Given the description of an element on the screen output the (x, y) to click on. 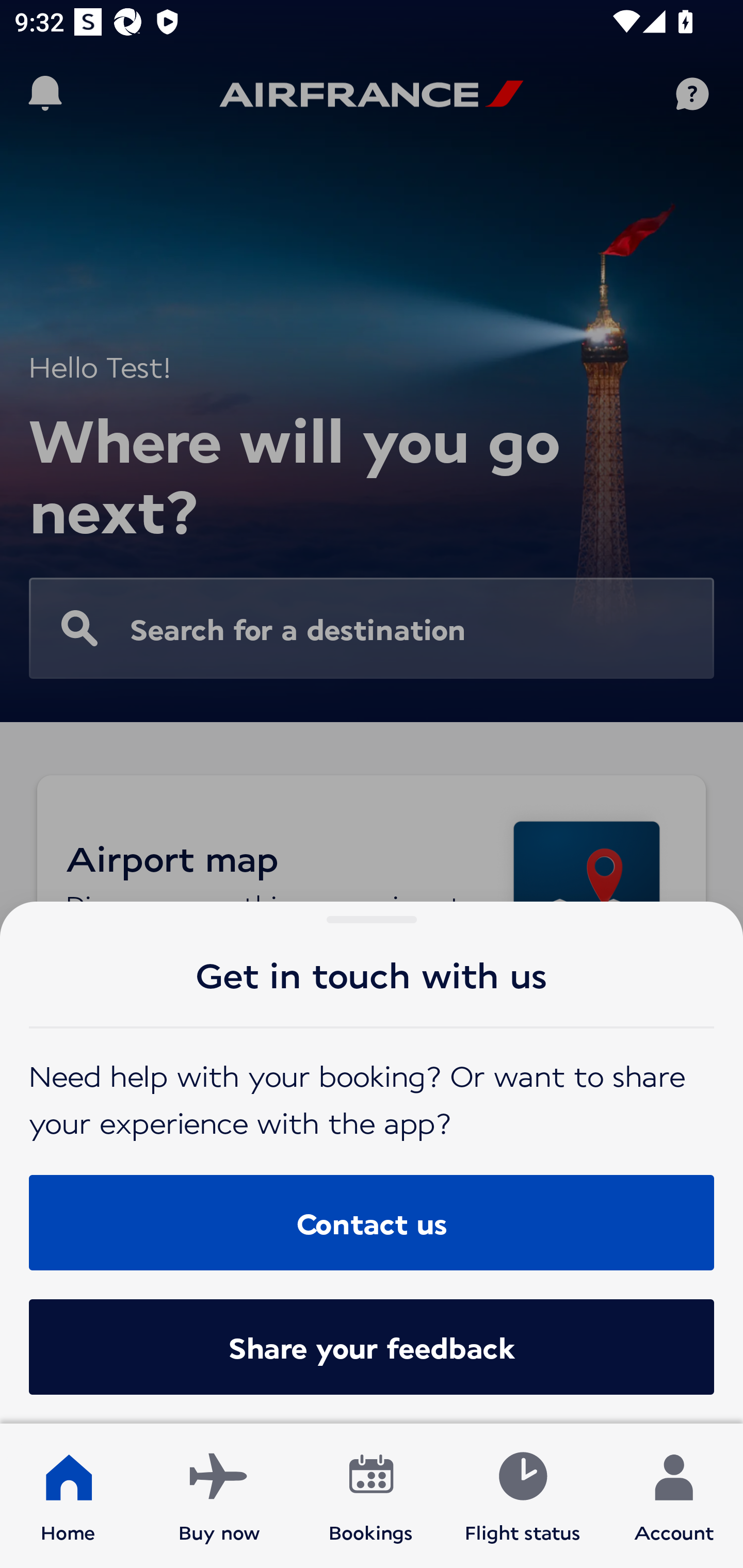
Contact us (371, 1222)
Share your feedback (371, 1346)
Buy now (219, 1495)
Bookings (370, 1495)
Flight status (522, 1495)
Account (674, 1495)
